Given the description of an element on the screen output the (x, y) to click on. 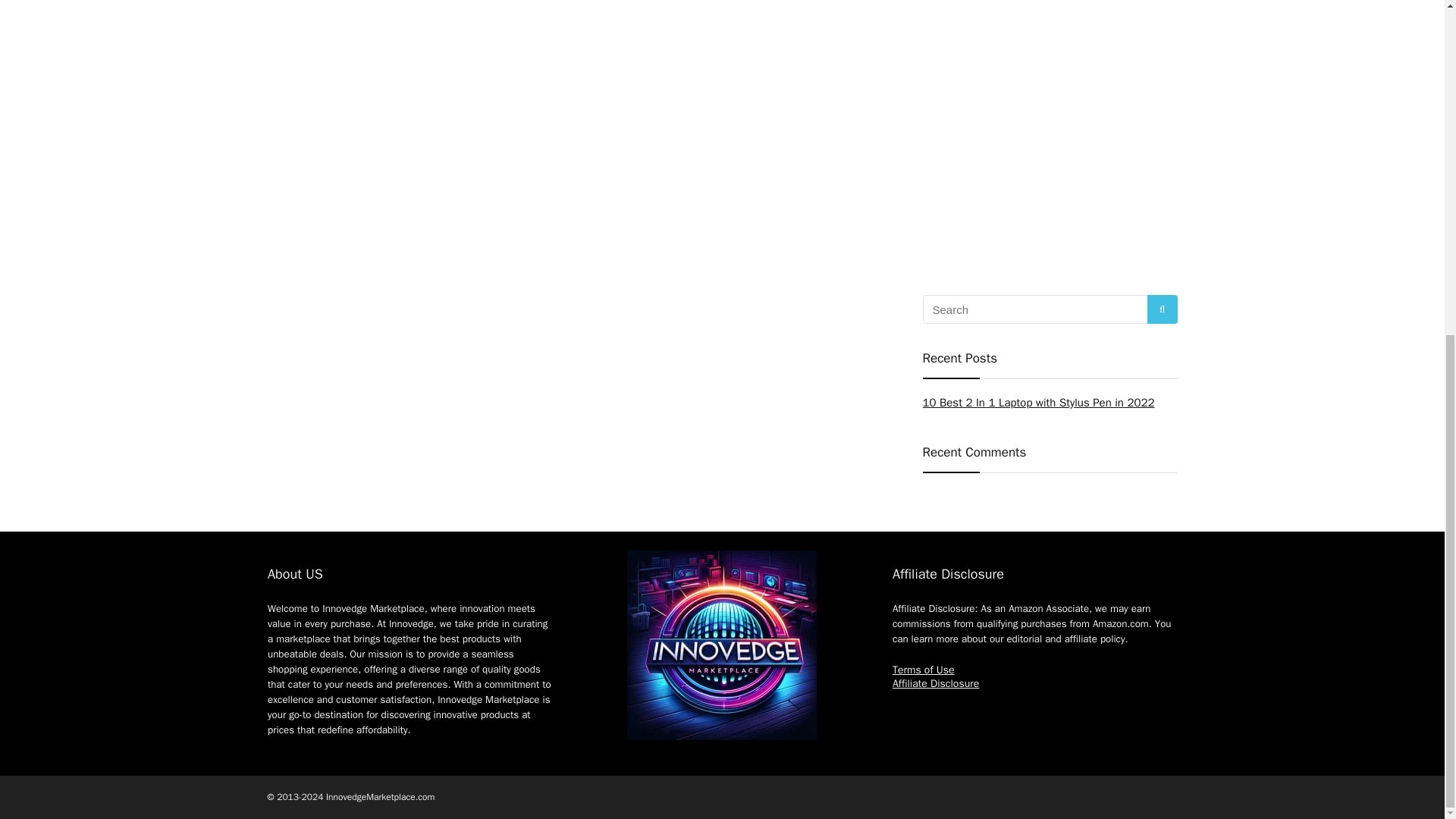
Terms of Use (923, 669)
Affiliate Disclosure (935, 683)
10 Best 2 In 1 Laptop with Stylus Pen in 2022 (1037, 402)
